Given the description of an element on the screen output the (x, y) to click on. 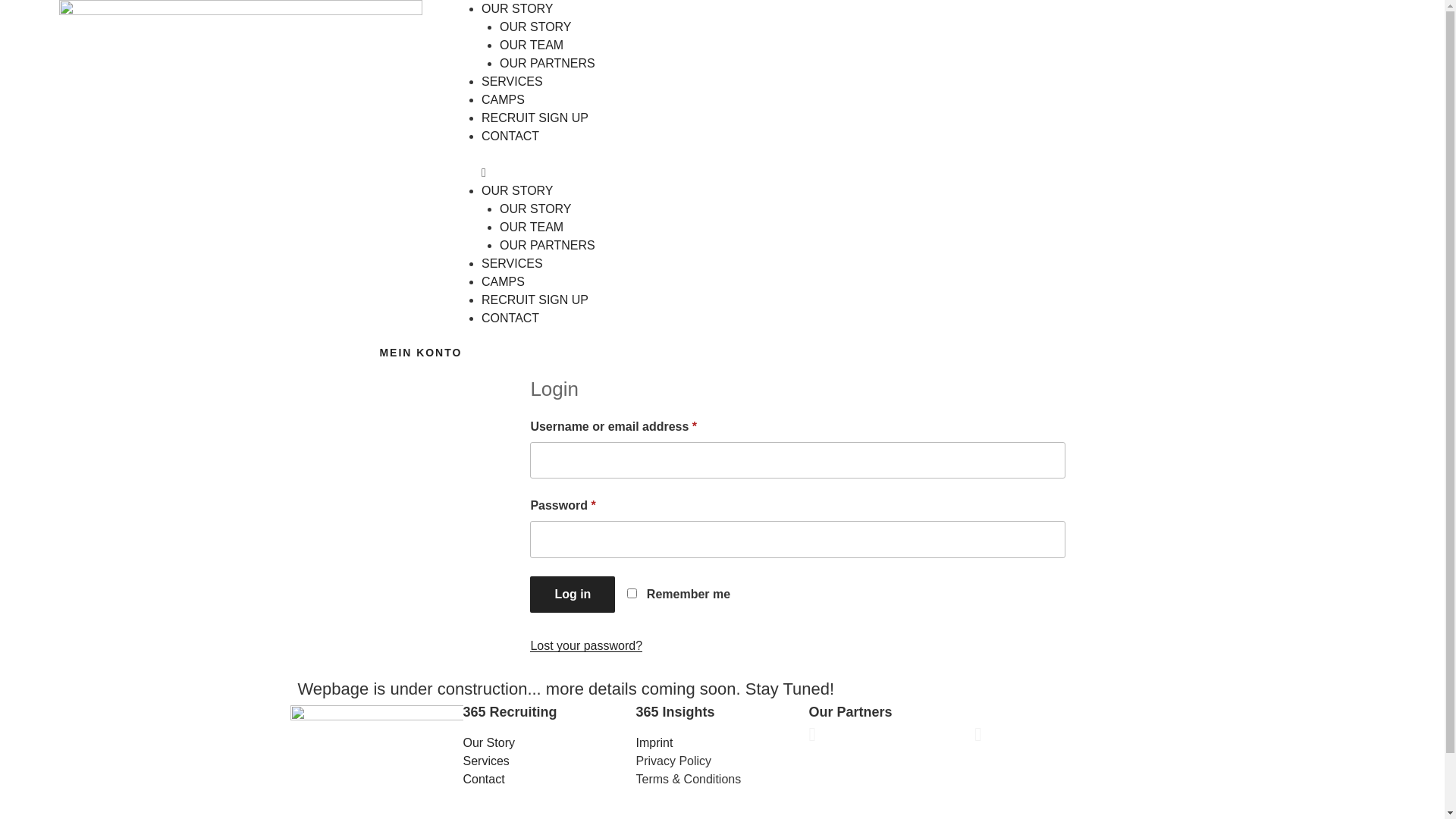
Lost your password? Element type: text (586, 645)
SERVICES Element type: text (511, 81)
OUR STORY Element type: text (517, 8)
OUR STORY Element type: text (517, 190)
CAMPS Element type: text (502, 281)
OUR PARTNERS Element type: text (547, 244)
SERVICES Element type: text (511, 263)
OUR TEAM Element type: text (531, 44)
CONTACT Element type: text (510, 135)
RECRUIT SIGN UP Element type: text (534, 117)
RECRUIT SIGN UP Element type: text (534, 299)
CONTACT Element type: text (510, 317)
OUR STORY Element type: text (535, 208)
Services Element type: text (548, 761)
OUR TEAM Element type: text (531, 226)
CAMPS Element type: text (502, 99)
Our Story Element type: text (548, 743)
OUR PARTNERS Element type: text (547, 62)
OUR STORY Element type: text (535, 26)
Imprint Element type: text (721, 743)
Contact Element type: text (548, 779)
Log in Element type: text (572, 594)
